Given the description of an element on the screen output the (x, y) to click on. 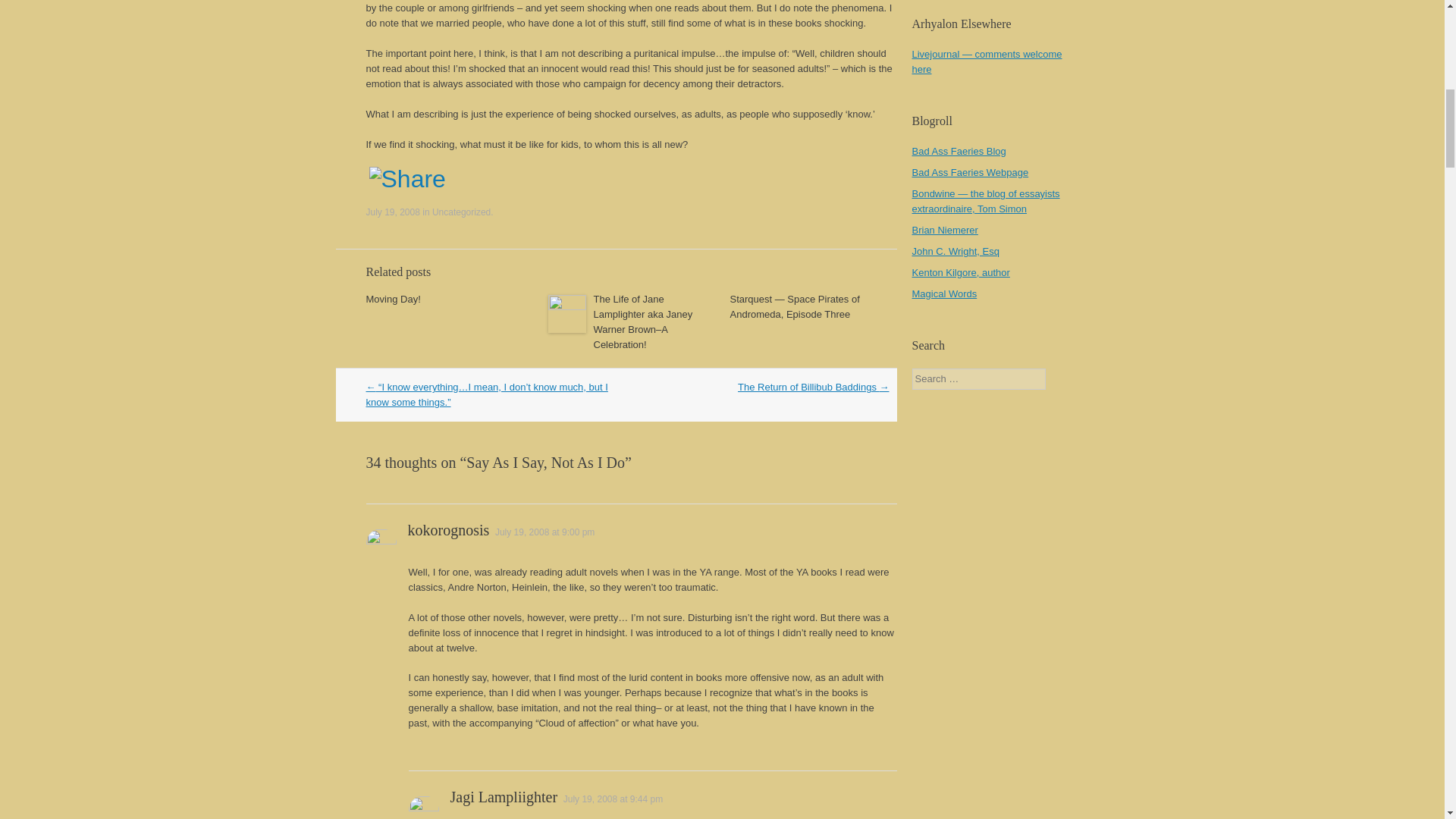
Moving Day! (392, 298)
July 19, 2008 (392, 212)
Uncategorized (461, 212)
The blog of author Brian Niemerer (943, 229)
Permalink to Moving Day! (392, 298)
kokorognosis (448, 529)
Website featuring the Bad Ass Faeries Anthology Series (969, 172)
Mr. Superversive himself (985, 201)
July 19, 2008 at 9:00 pm (544, 532)
